Given the description of an element on the screen output the (x, y) to click on. 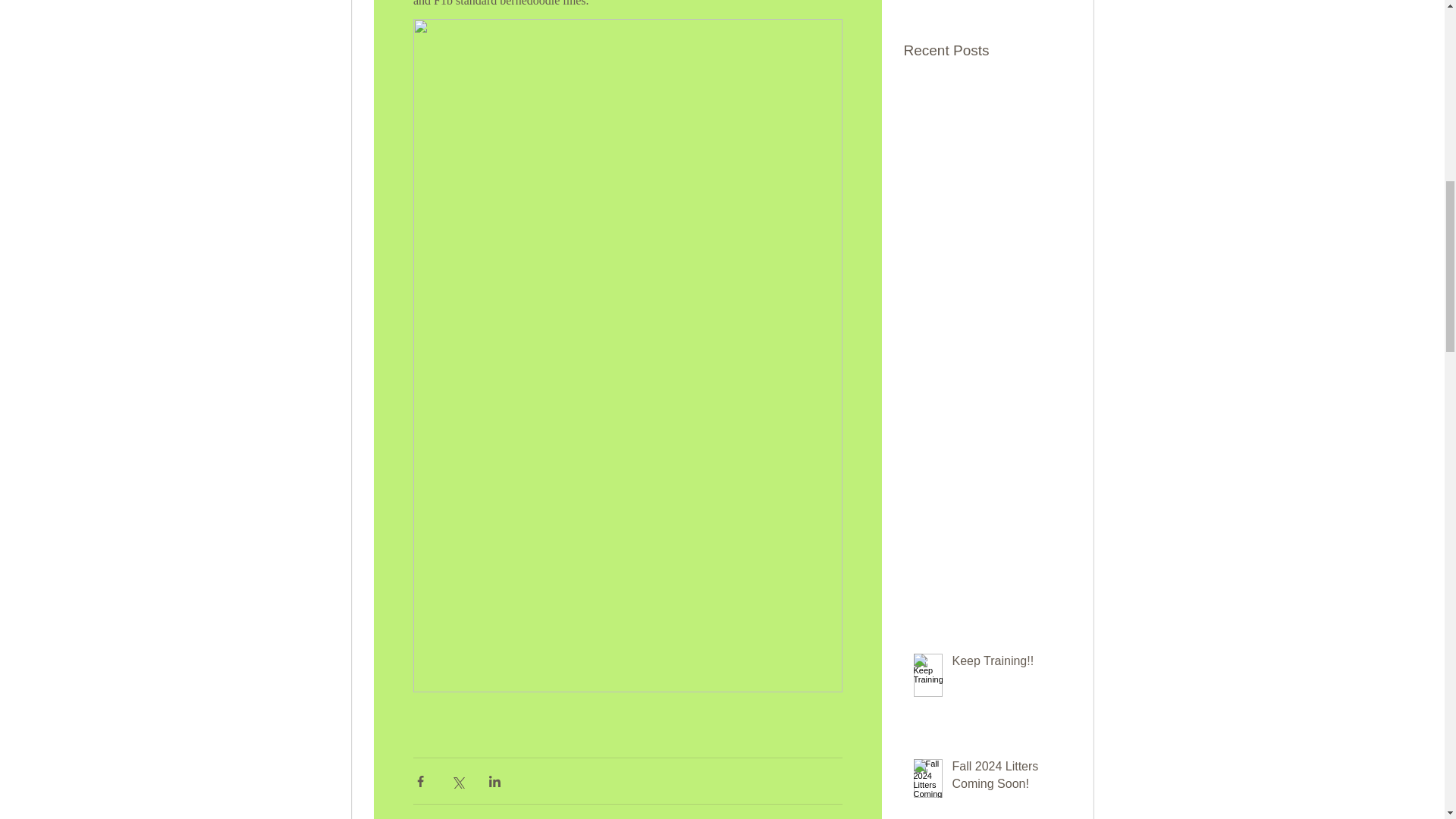
Keep Training!! (1006, 663)
Fall 2024 Litters Coming Soon! (1006, 778)
